Given the description of an element on the screen output the (x, y) to click on. 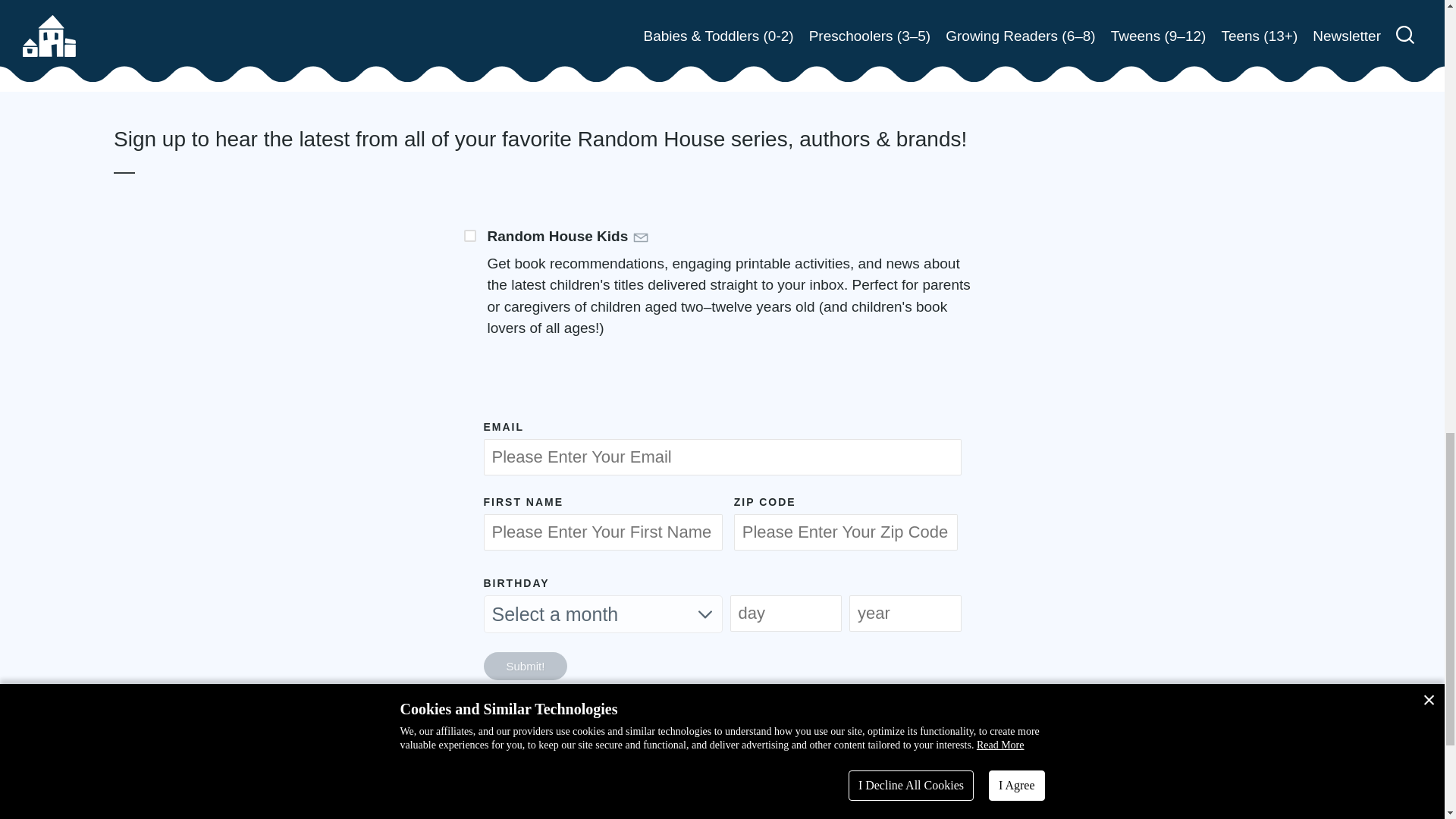
31001 (470, 235)
